Given the description of an element on the screen output the (x, y) to click on. 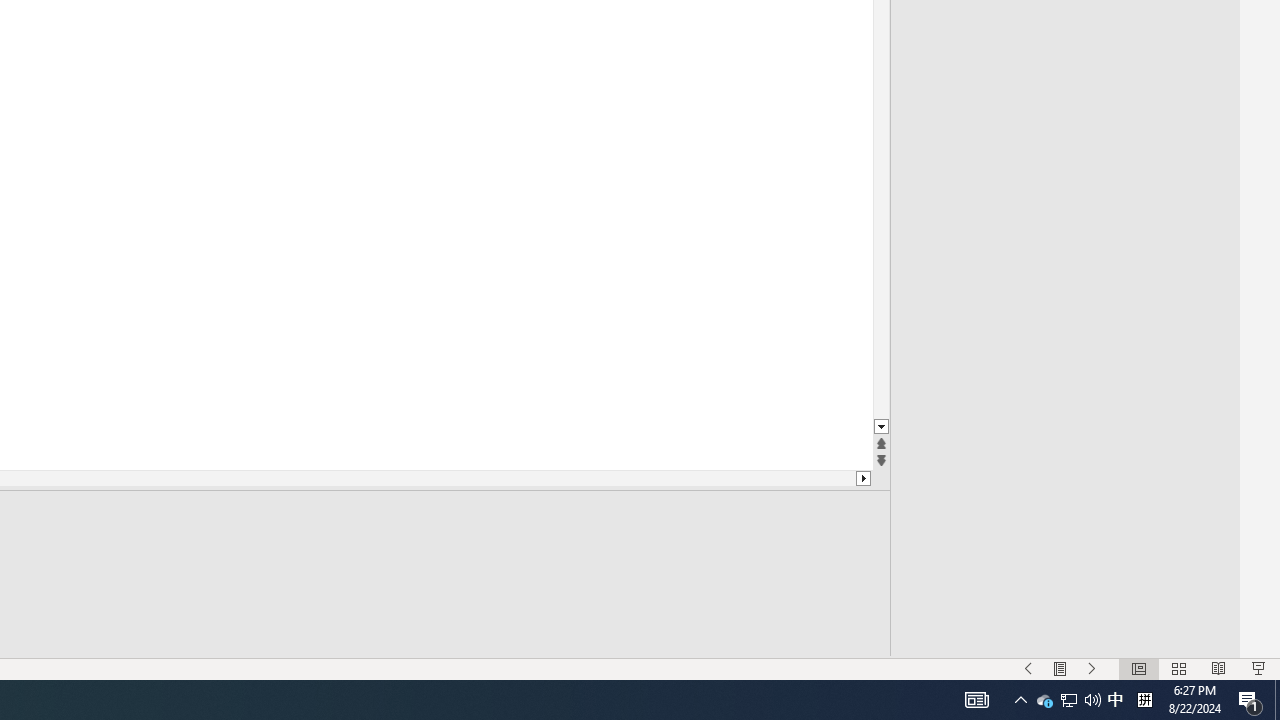
Slide Show Previous On (1028, 668)
Slide Show Next On (1092, 668)
Menu On (1060, 668)
